Given the description of an element on the screen output the (x, y) to click on. 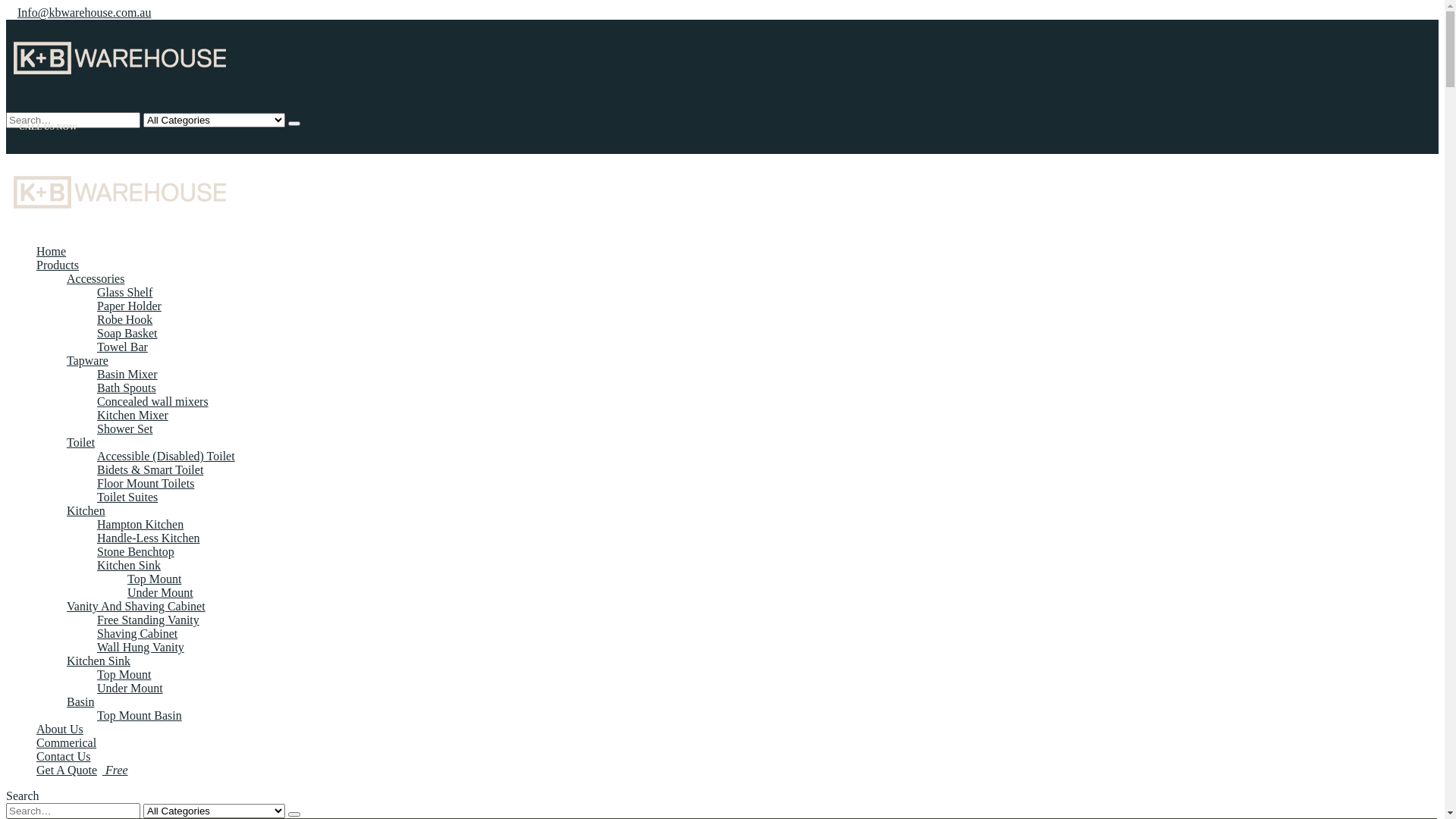
Under Mount Element type: text (130, 763)
Basin Mixer Element type: text (127, 449)
Hampton Kitchen Element type: text (140, 599)
Toilet Element type: text (80, 517)
Free Standing Vanity Element type: text (148, 695)
07 5531 5474 Element type: text (56, 174)
Paper Holder Element type: text (129, 381)
Robe Hook Element type: text (124, 395)
Glass Shelf Element type: text (124, 367)
Bath Spouts Element type: text (126, 463)
Basin Element type: text (80, 777)
Accessible (Disabled) Toilet Element type: text (166, 531)
Toilet Suites Element type: text (127, 572)
Bidets & Smart Toilet Element type: text (150, 545)
Soap Basket Element type: text (127, 408)
Accessories Element type: text (95, 354)
Kitchen Element type: text (85, 586)
About Us Element type: text (59, 804)
Search Element type: text (22, 142)
Concealed wall mixers Element type: text (152, 476)
Floor Mount Toilets Element type: text (145, 558)
Stone Benchtop Element type: text (135, 627)
Top Mount Basin Element type: text (139, 790)
kbwarehouse -  Element type: hover (119, 225)
Kitchen Mixer Element type: text (132, 490)
Towel Bar Element type: text (122, 422)
Shaving Cabinet Element type: text (137, 708)
Wall Hung Vanity Element type: text (140, 722)
Vanity And Shaving Cabinet Element type: text (135, 681)
Info@kbwarehouse.com.au Element type: text (83, 12)
Top Mount Element type: text (154, 654)
Shower Set Element type: text (124, 504)
Handle-Less Kitchen Element type: text (148, 613)
Under Mount Element type: text (160, 668)
Products Element type: text (57, 340)
Search Element type: hover (294, 814)
Kitchen Sink Element type: text (128, 640)
Top Mount Element type: text (123, 749)
Search Element type: hover (294, 123)
kbwarehouse -  Element type: hover (119, 90)
Kitchen Sink Element type: text (98, 736)
Tapware Element type: text (87, 435)
Home Element type: text (50, 326)
